Given the description of an element on the screen output the (x, y) to click on. 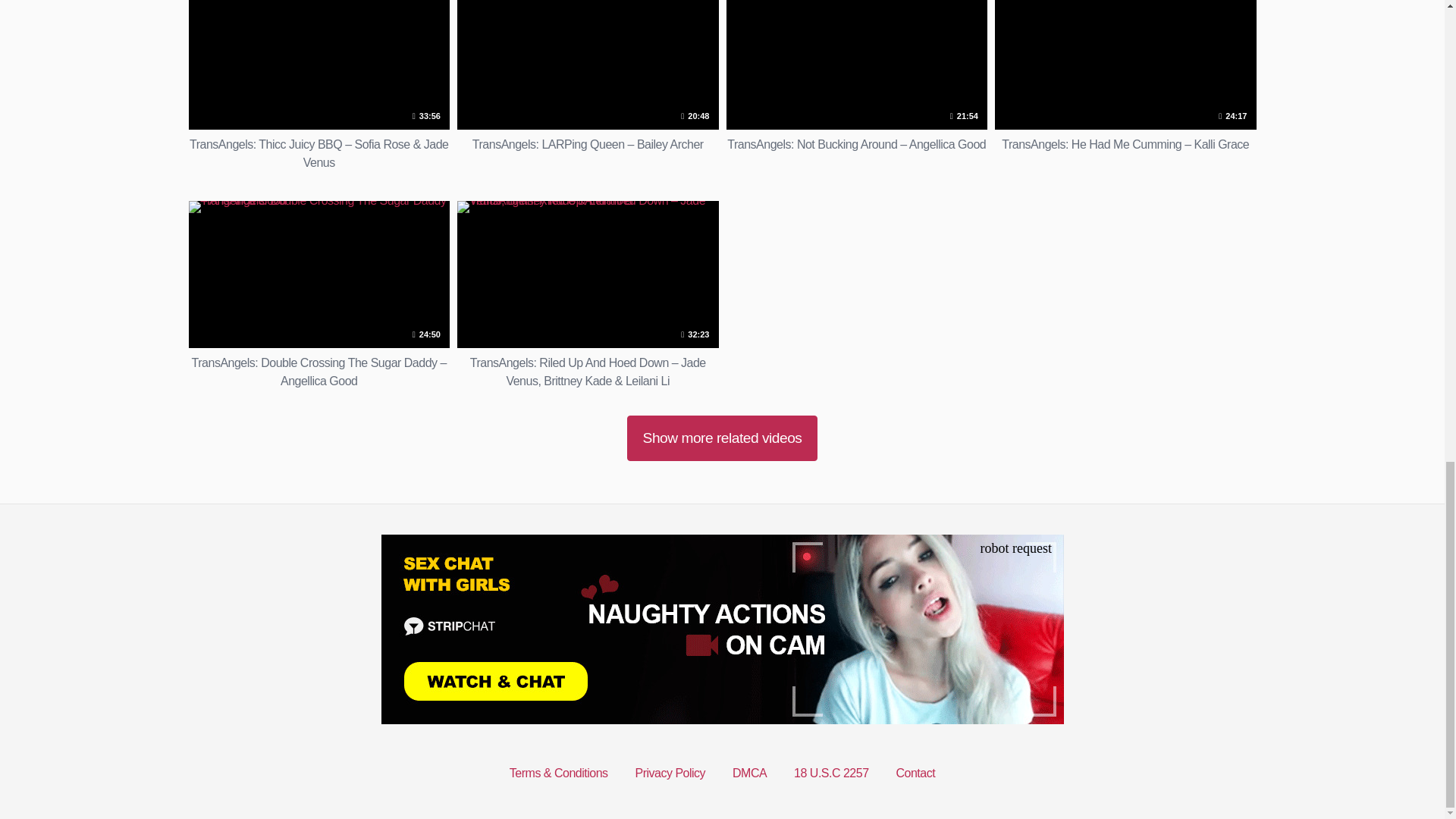
DMCA (749, 772)
Show more related videos (721, 438)
Privacy Policy (670, 772)
